Given the description of an element on the screen output the (x, y) to click on. 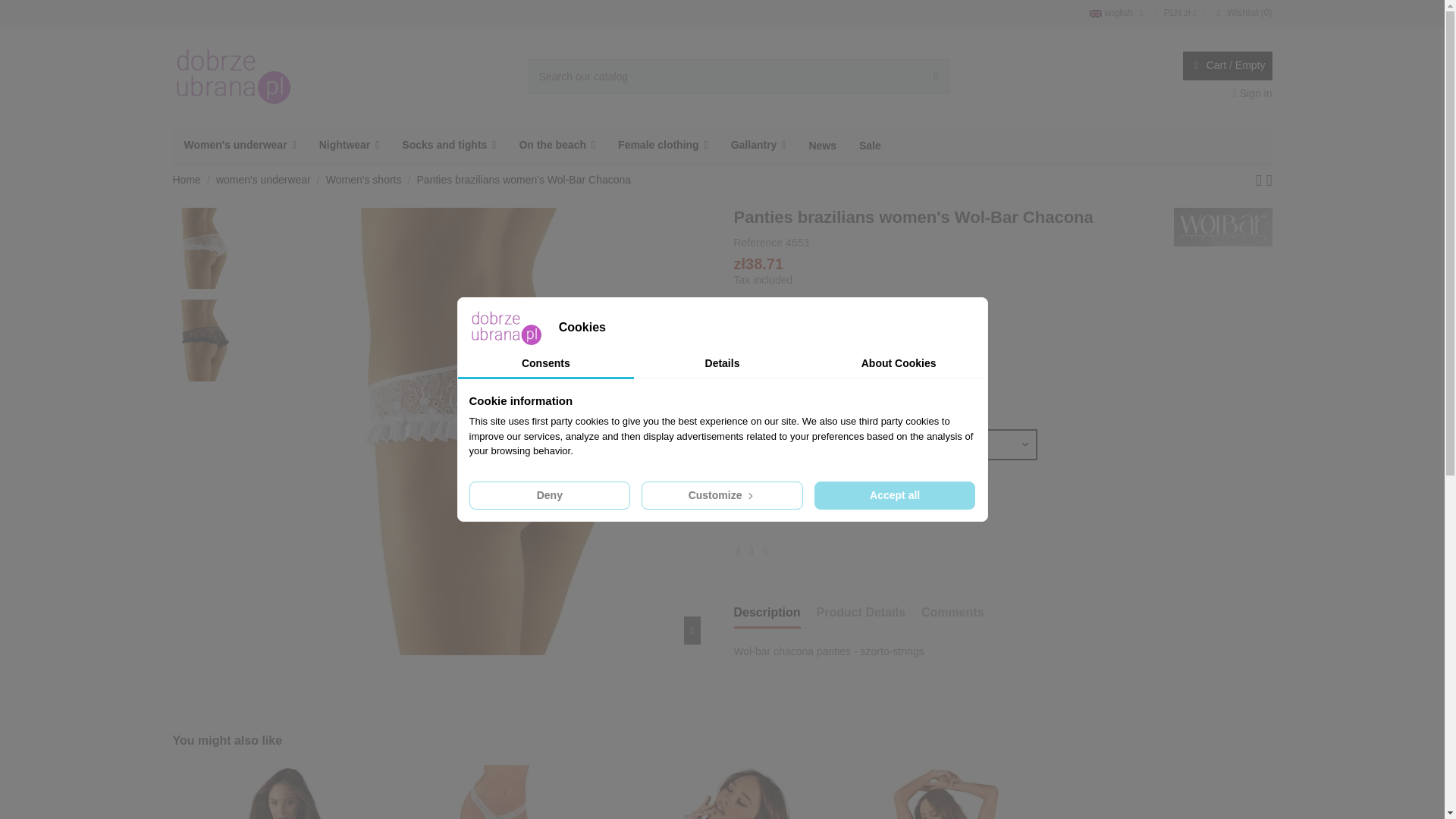
Sign in (1252, 92)
Log in to your customer account (1252, 92)
english (1118, 12)
1 (755, 494)
Women's underwear (240, 145)
Nightwear (349, 145)
